Given the description of an element on the screen output the (x, y) to click on. 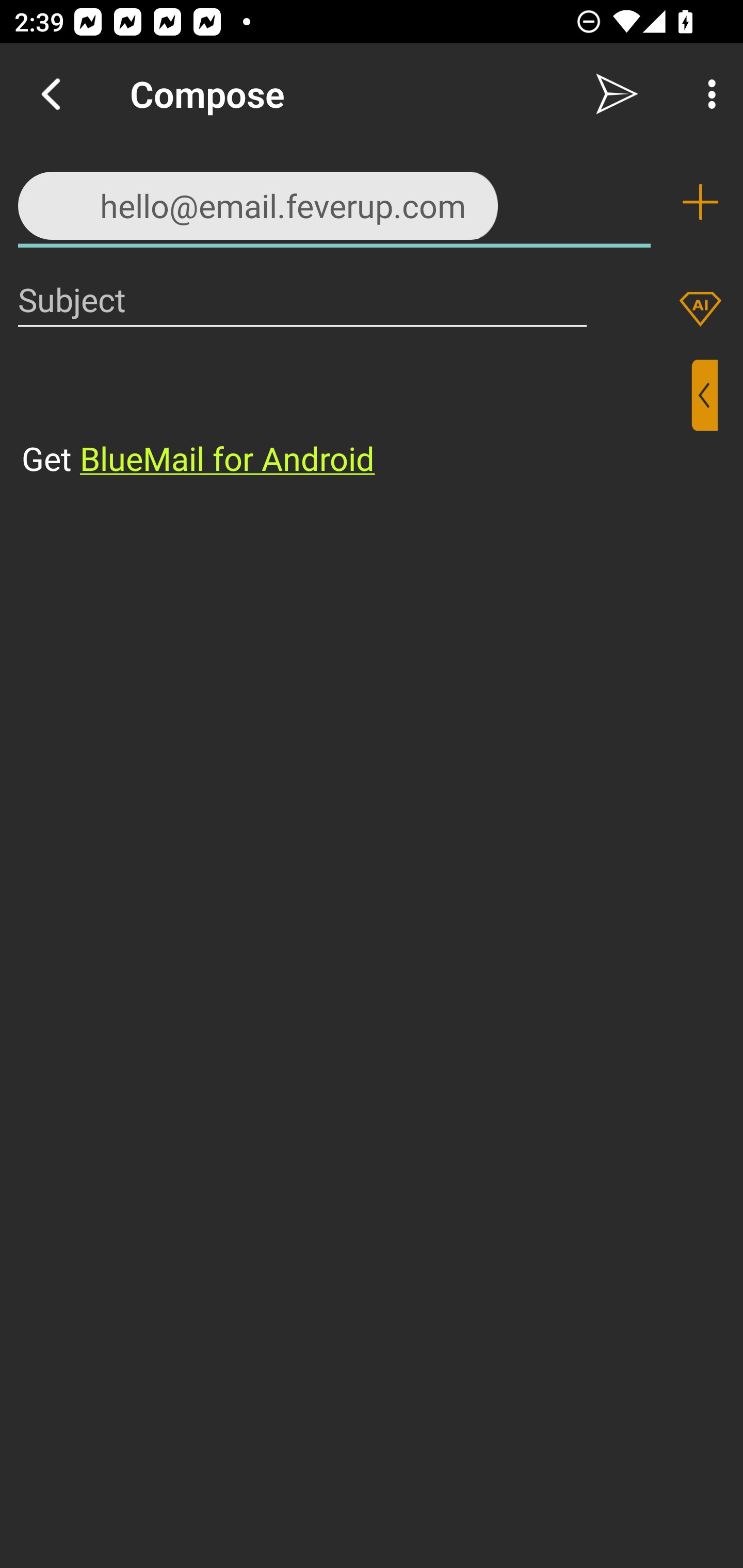
Navigate up (50, 93)
Send (616, 93)
More Options (706, 93)
<hello@email.feverup.com>,  (334, 201)
Add recipient (To) (699, 201)
Subject (302, 299)


⁣Get BlueMail for Android ​ (355, 419)
